Given the description of an element on the screen output the (x, y) to click on. 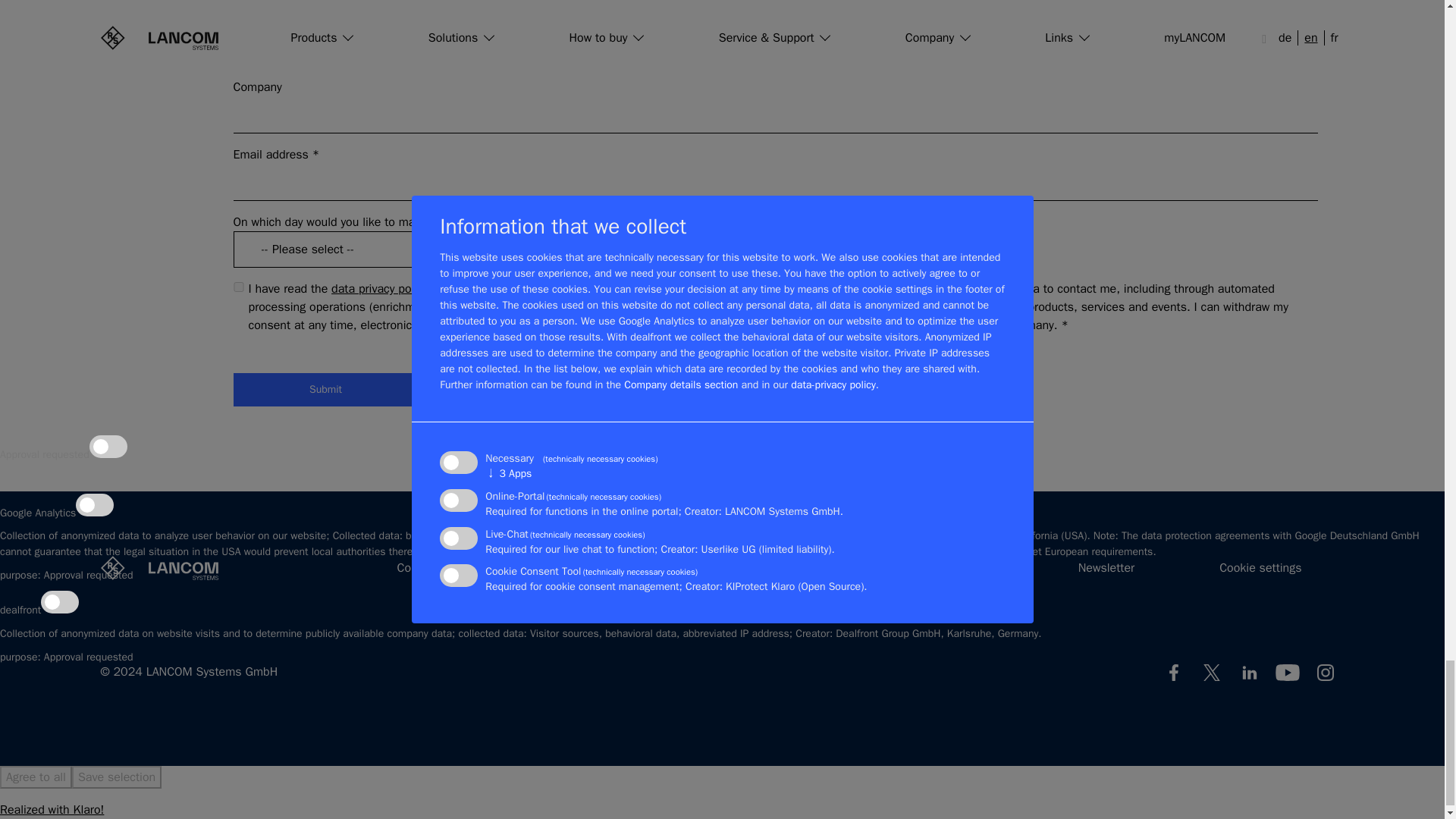
Submit (325, 389)
on (238, 286)
